Given the description of an element on the screen output the (x, y) to click on. 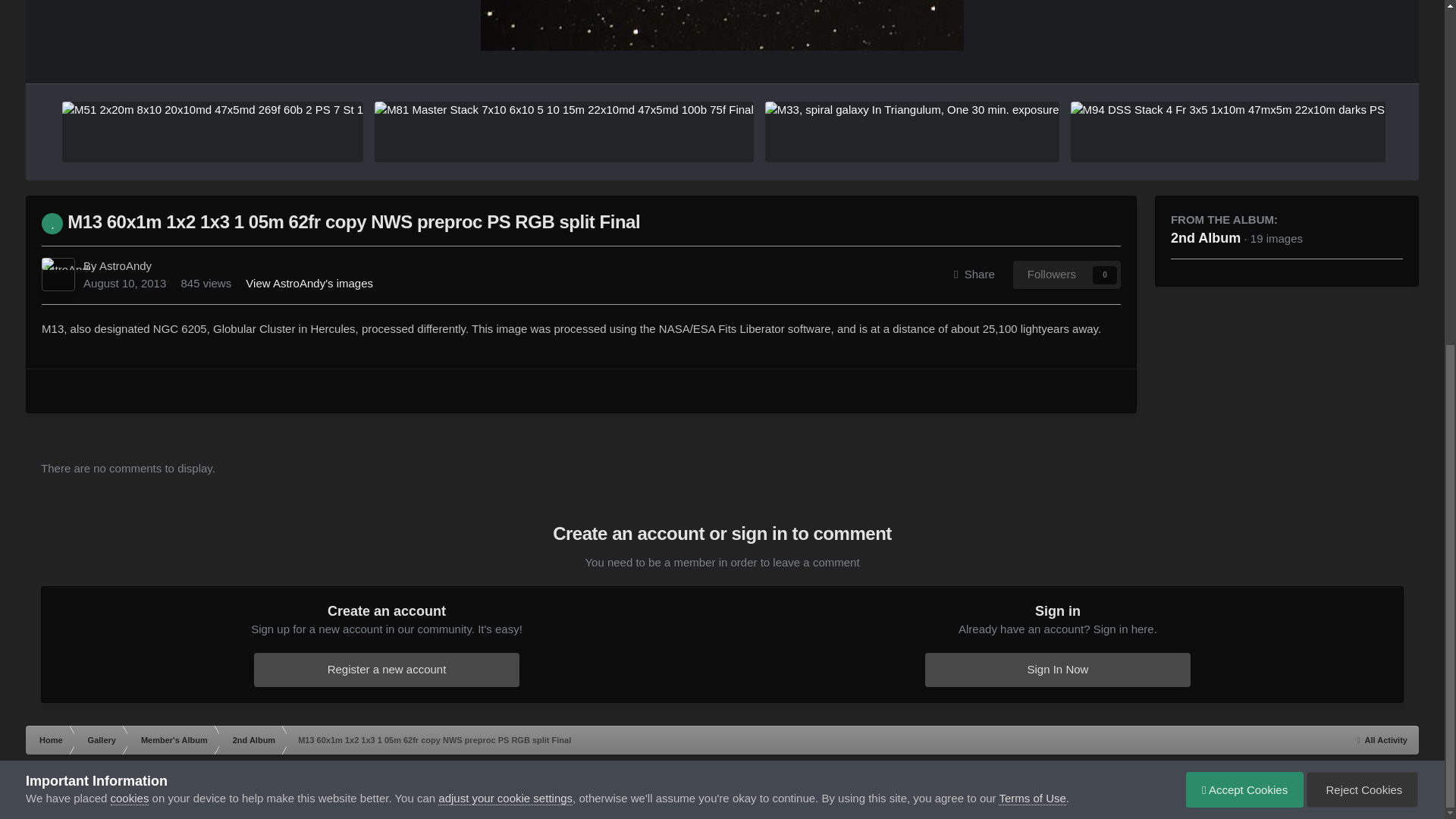
Go to AstroAndy's profile (58, 274)
Featured (52, 223)
View in lightbox (721, 25)
Go to AstroAndy's profile (125, 265)
